Given the description of an element on the screen output the (x, y) to click on. 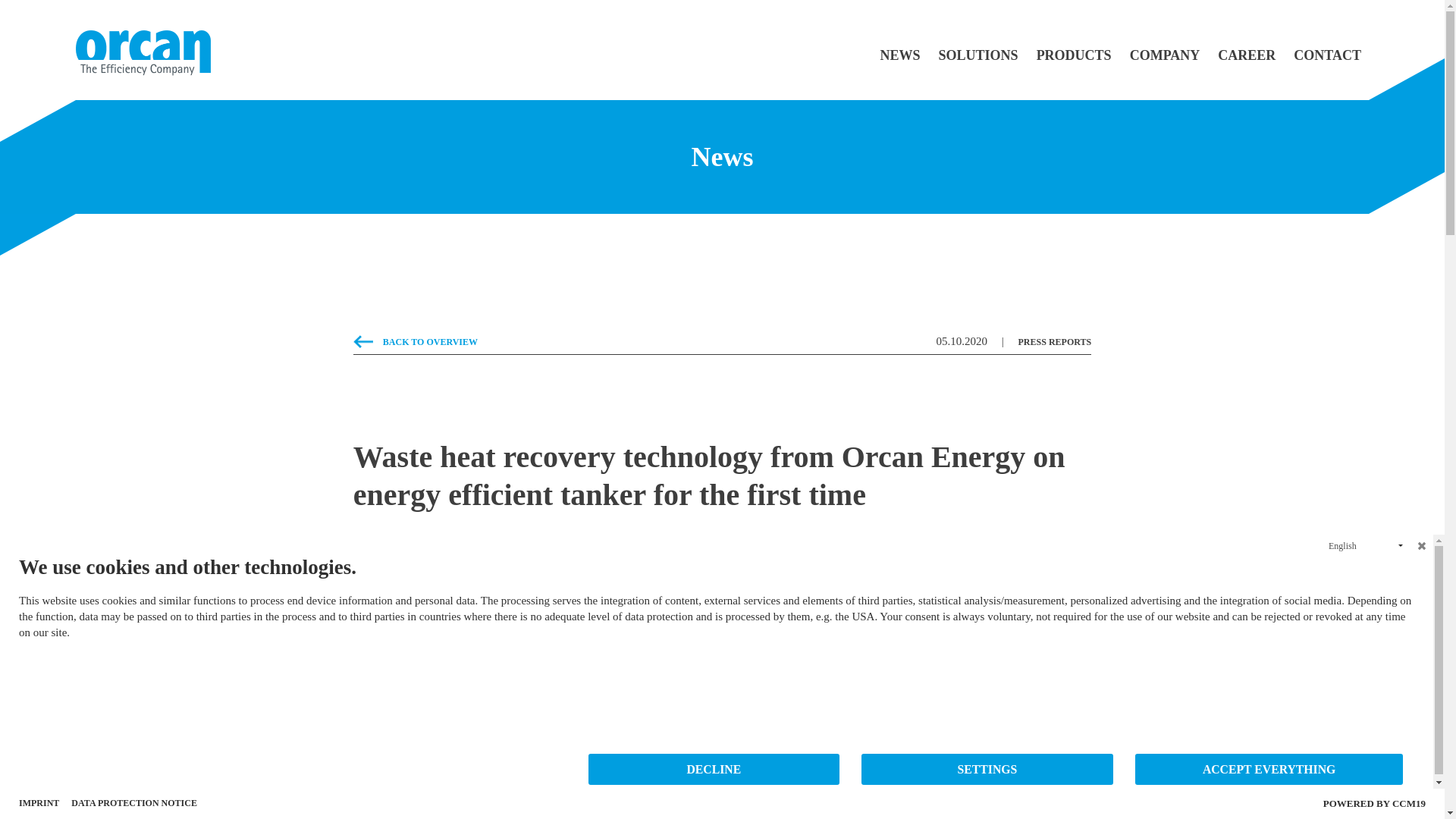
BACK TO OVERVIEW (415, 341)
COMPANY (1165, 68)
Contact (1326, 55)
PRODUCTS (1074, 55)
Company (1165, 68)
Back to homepage (143, 51)
News (900, 68)
Products (1074, 55)
CONTACT (1326, 55)
Career (1245, 55)
